Given the description of an element on the screen output the (x, y) to click on. 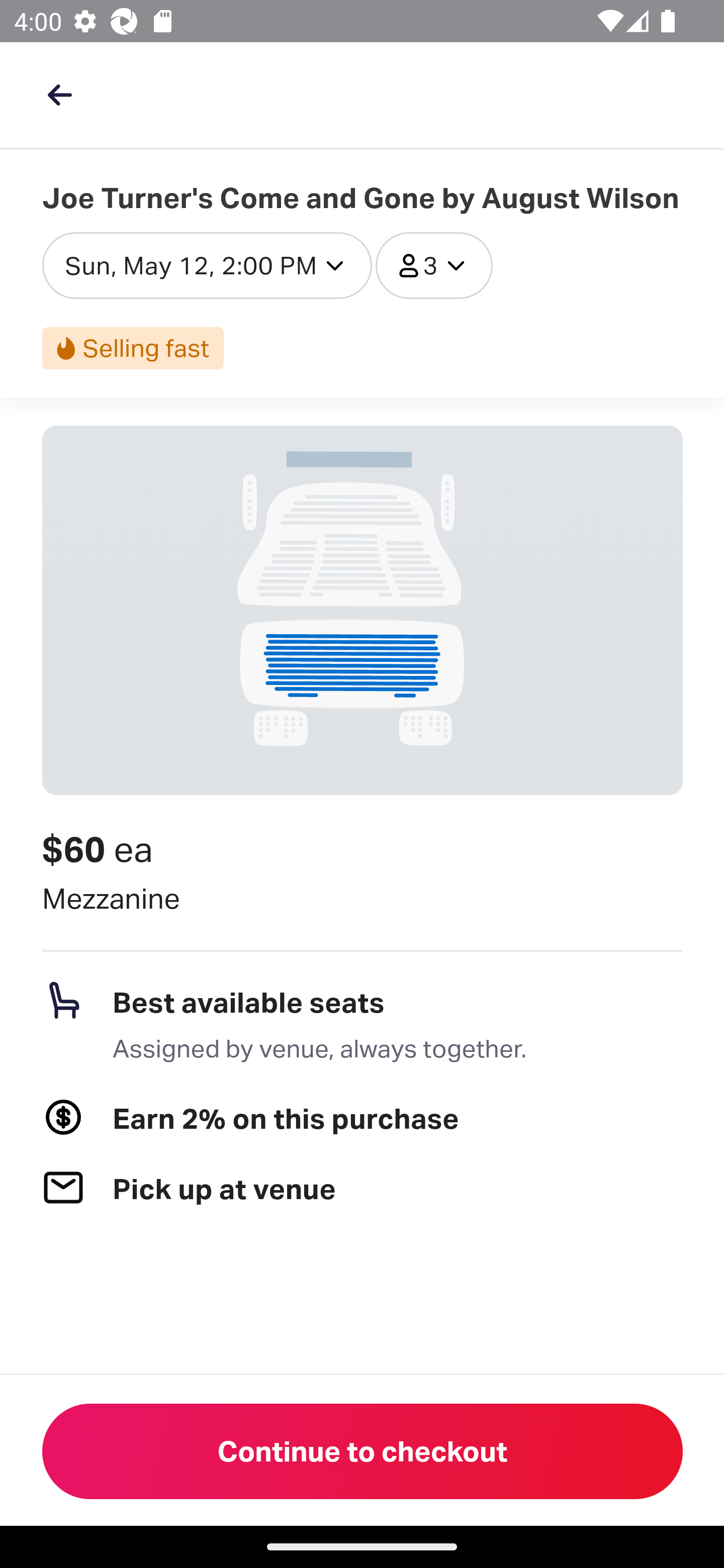
back button (59, 94)
Sun, May 12, 2:00 PM (206, 265)
3 (434, 265)
Continue to checkout (362, 1450)
